Given the description of an element on the screen output the (x, y) to click on. 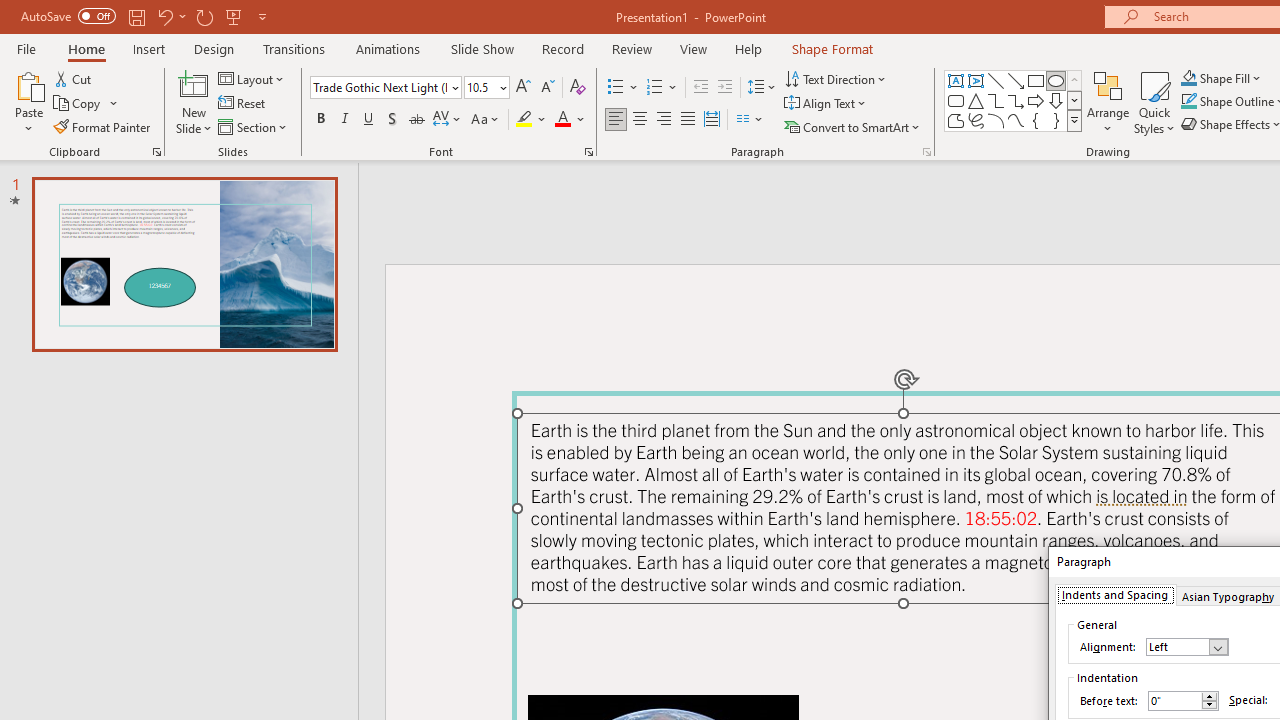
Shape Outline Teal, Accent 1 (1188, 101)
